Given the description of an element on the screen output the (x, y) to click on. 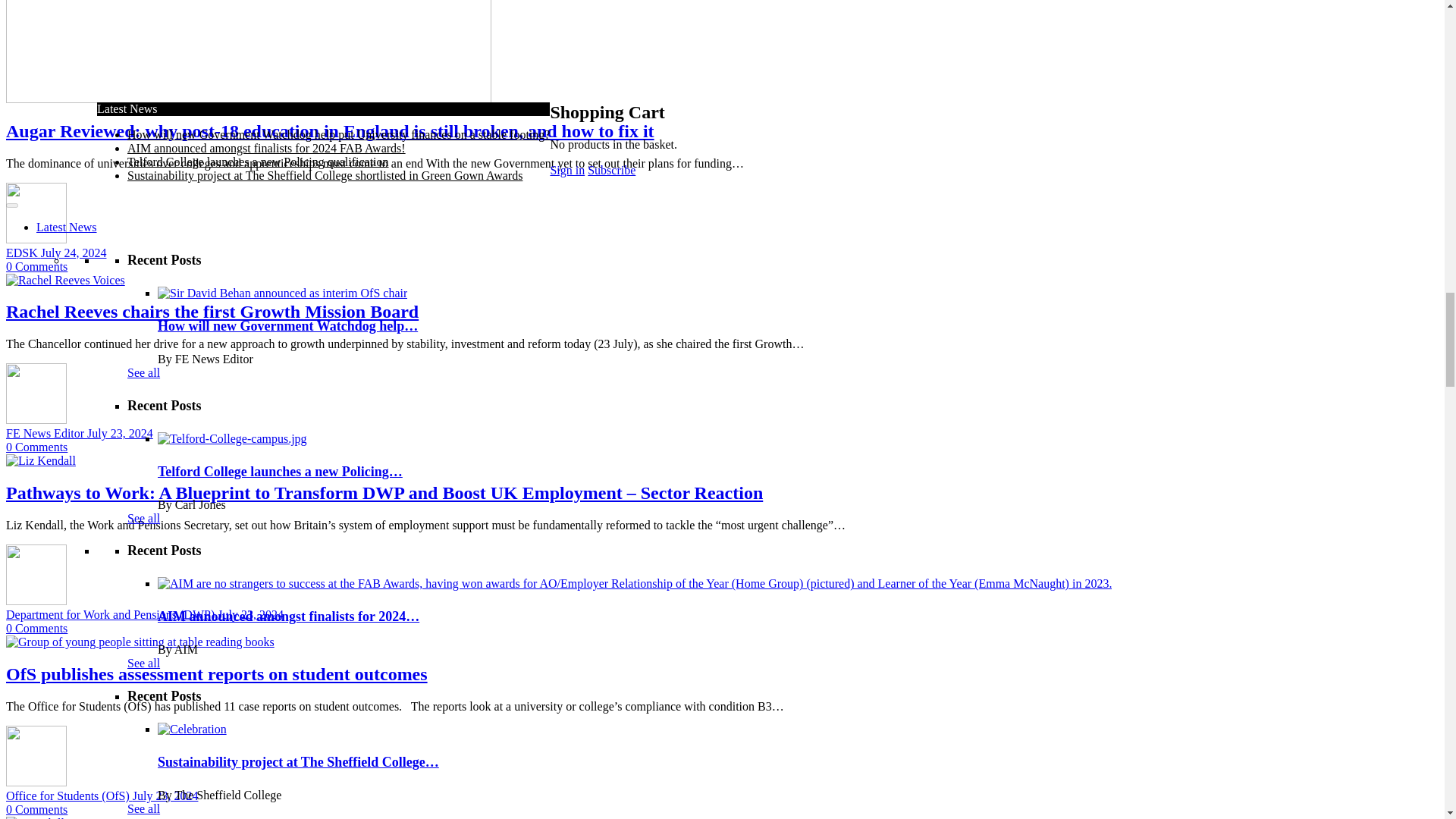
Media pack (424, 446)
